Given the description of an element on the screen output the (x, y) to click on. 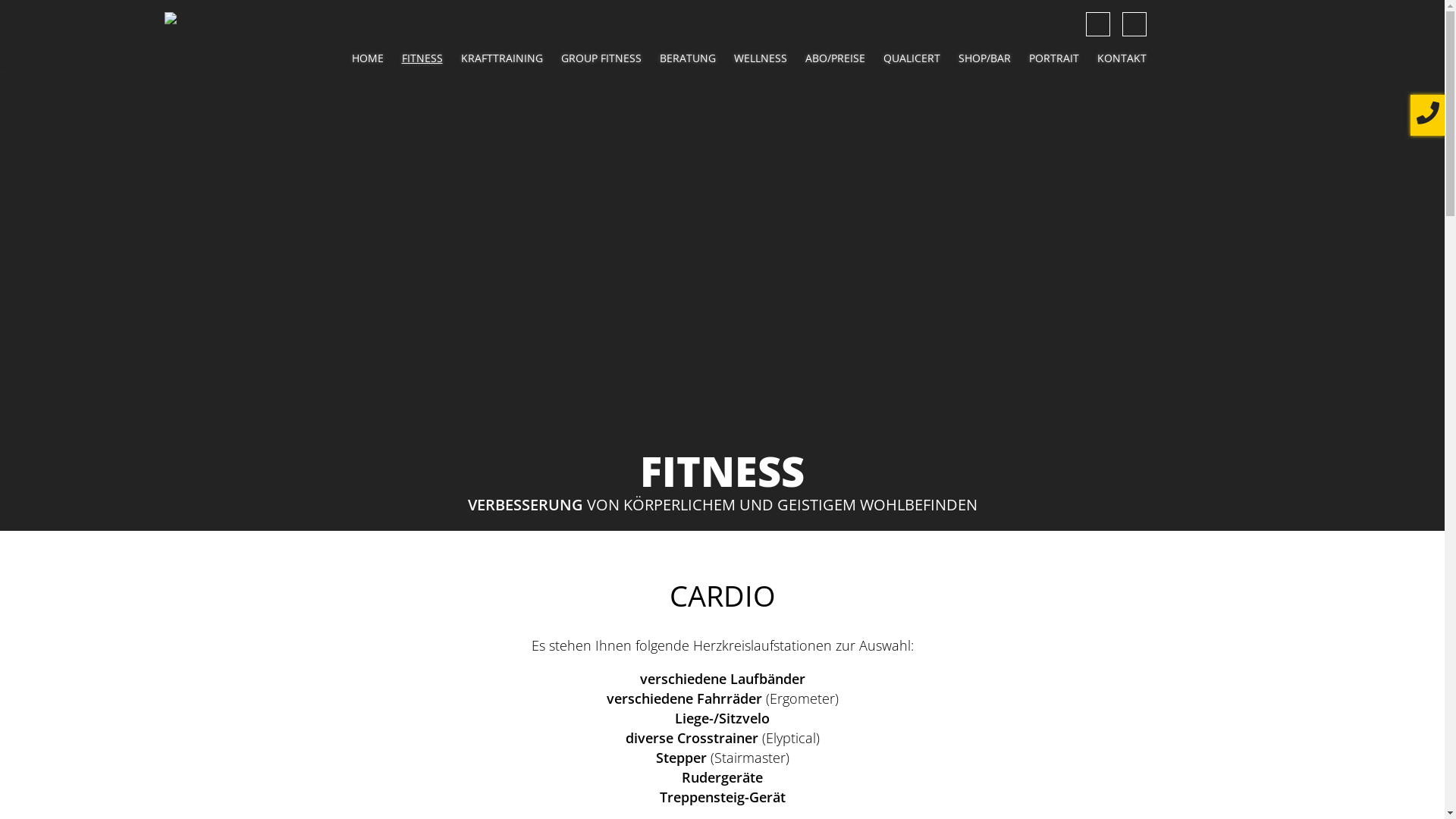
KRAFTTRAINING Element type: text (501, 57)
GROUP FITNESS Element type: text (601, 57)
HOME Element type: text (367, 57)
QUALICERT Element type: text (910, 57)
SHOP/BAR Element type: text (984, 57)
WELLNESS Element type: text (760, 57)
PORTRAIT Element type: text (1053, 57)
BERATUNG Element type: text (687, 57)
FITNESS Element type: text (421, 57)
KONTAKT Element type: text (1120, 57)
ABO/PREISE Element type: text (835, 57)
